Given the description of an element on the screen output the (x, y) to click on. 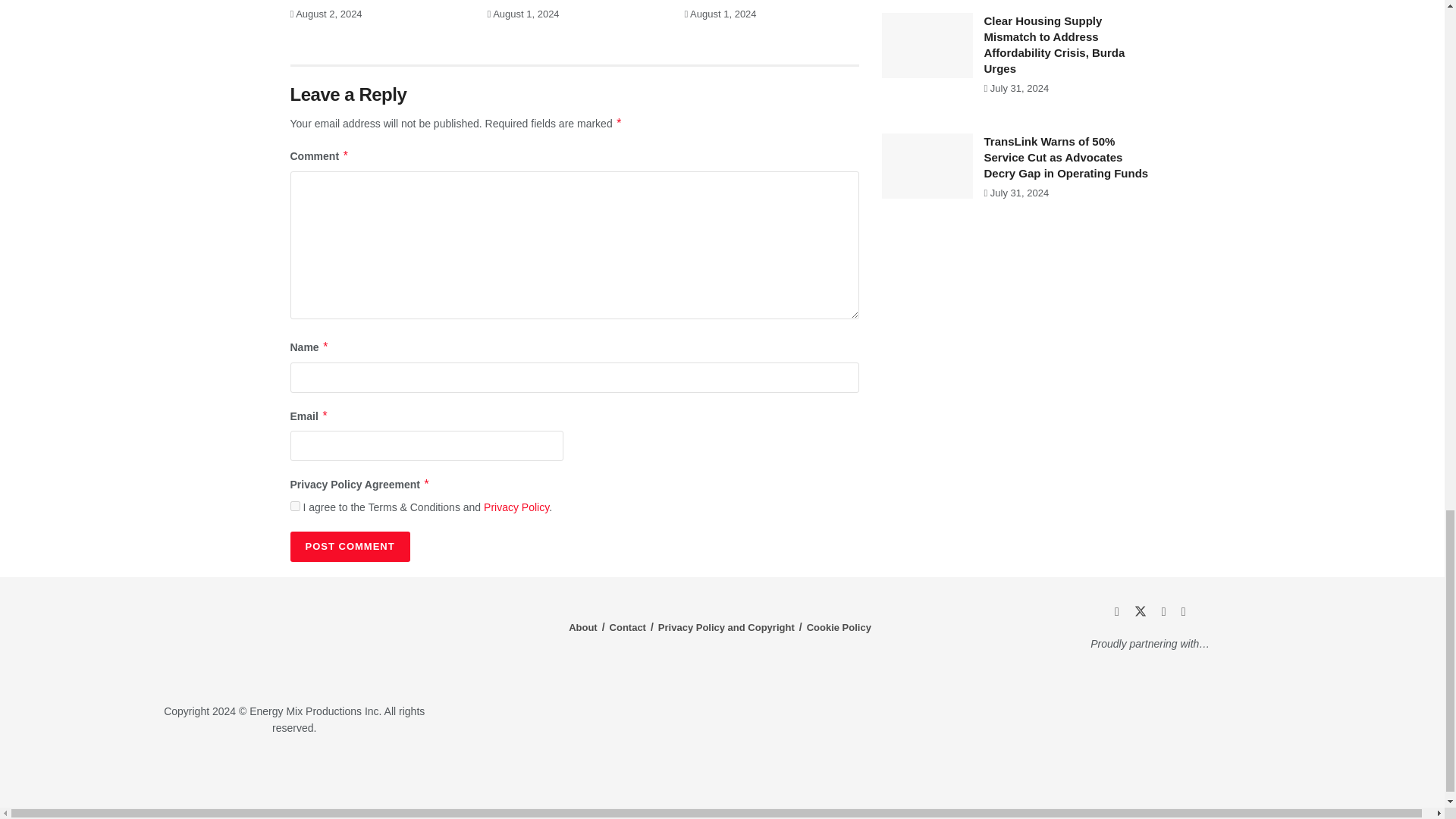
Climate-and-Capital (1221, 773)
Post Comment (349, 546)
tem-logo-2024 (294, 641)
on (294, 506)
